Given the description of an element on the screen output the (x, y) to click on. 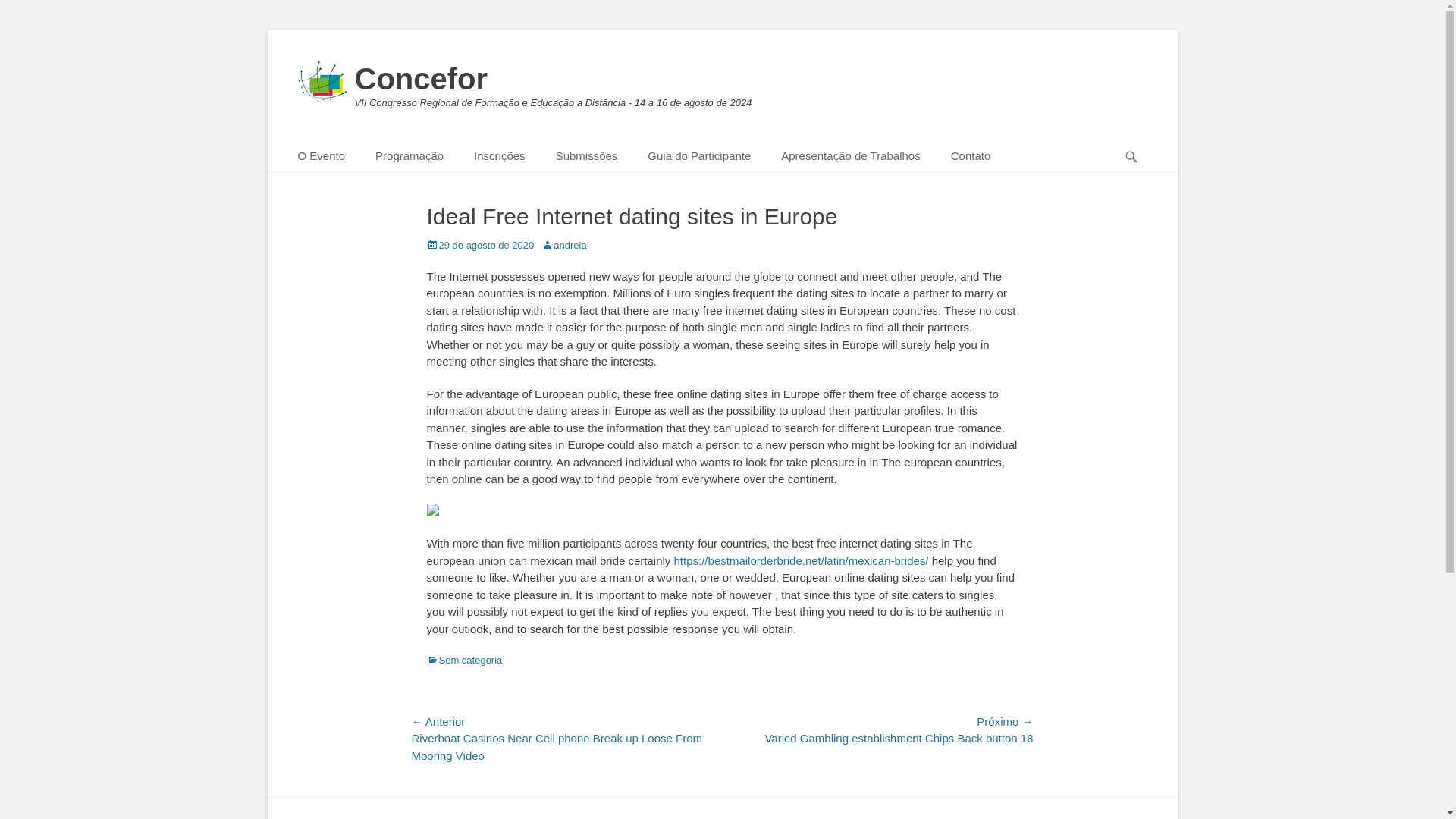
29 de agosto de 2020 (480, 244)
O Evento (320, 156)
Sem categoria (464, 659)
Guia do Participante (698, 156)
Concefor (421, 78)
O Evento (320, 156)
Contato (971, 156)
andreia (563, 244)
